Given the description of an element on the screen output the (x, y) to click on. 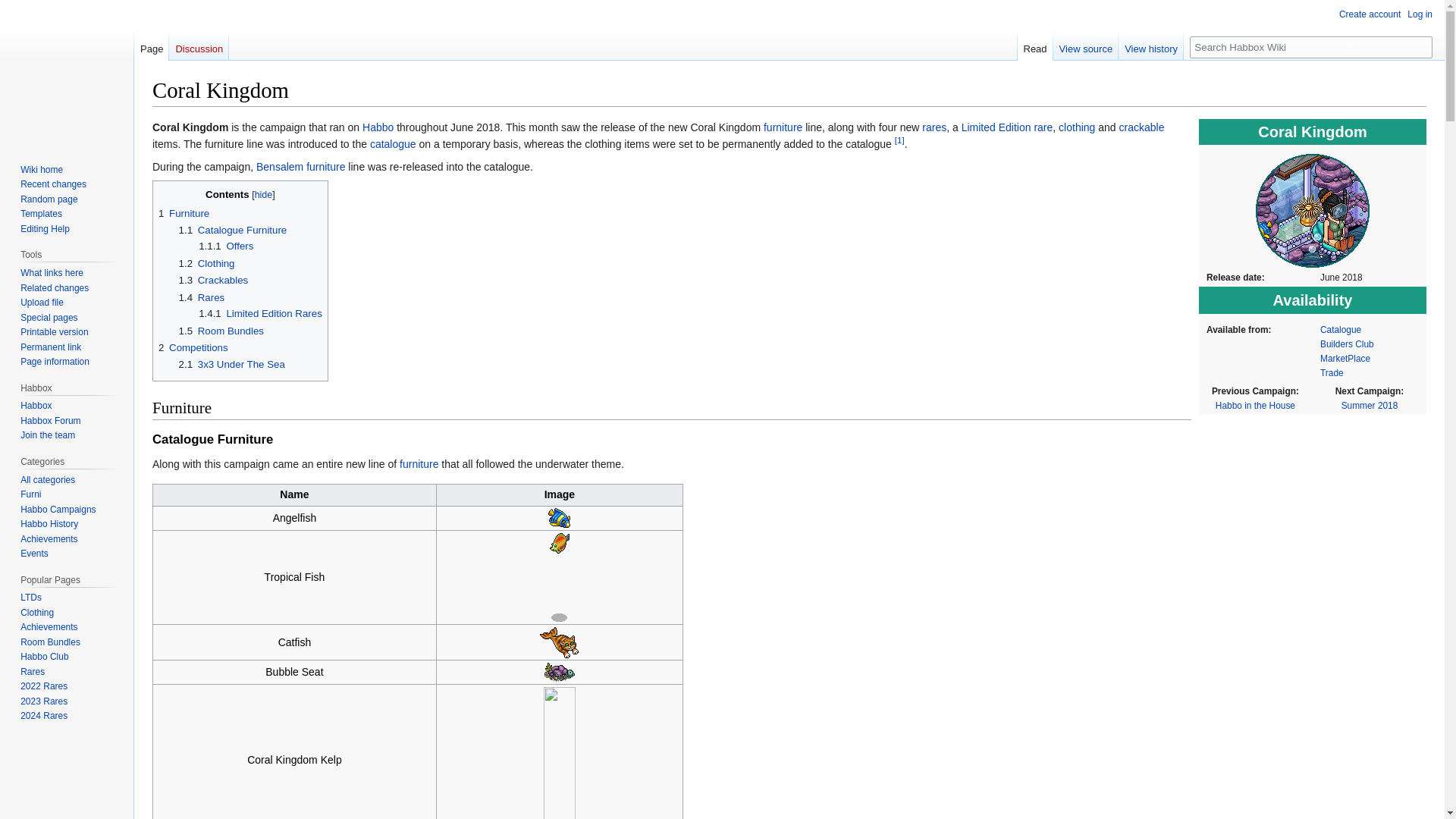
Builders Club (1347, 344)
Furni (418, 463)
Summer 2018 (1368, 405)
Limited Edition rare (1006, 127)
Limited Edition Rares (1006, 127)
2 Competitions (193, 347)
Catalogue (392, 143)
furniture (325, 166)
Crackables (1141, 127)
Summer 2018 (1368, 405)
Catalogue (1340, 329)
1.4.1 Limited Edition Rares (259, 313)
Trade (1331, 372)
furniture (782, 127)
Habbo (377, 127)
